Given the description of an element on the screen output the (x, y) to click on. 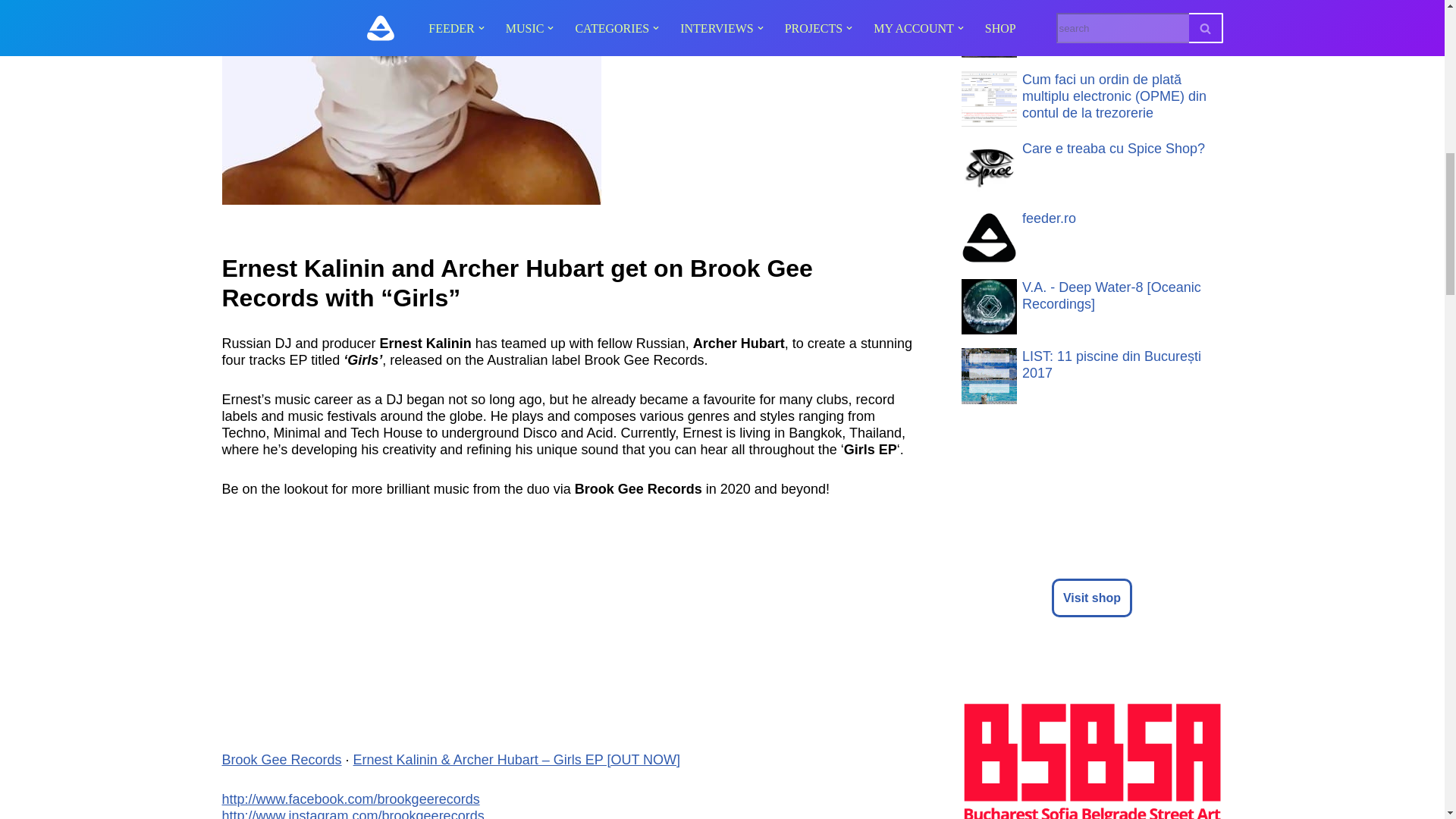
Brook Gee Records (280, 759)
